Given the description of an element on the screen output the (x, y) to click on. 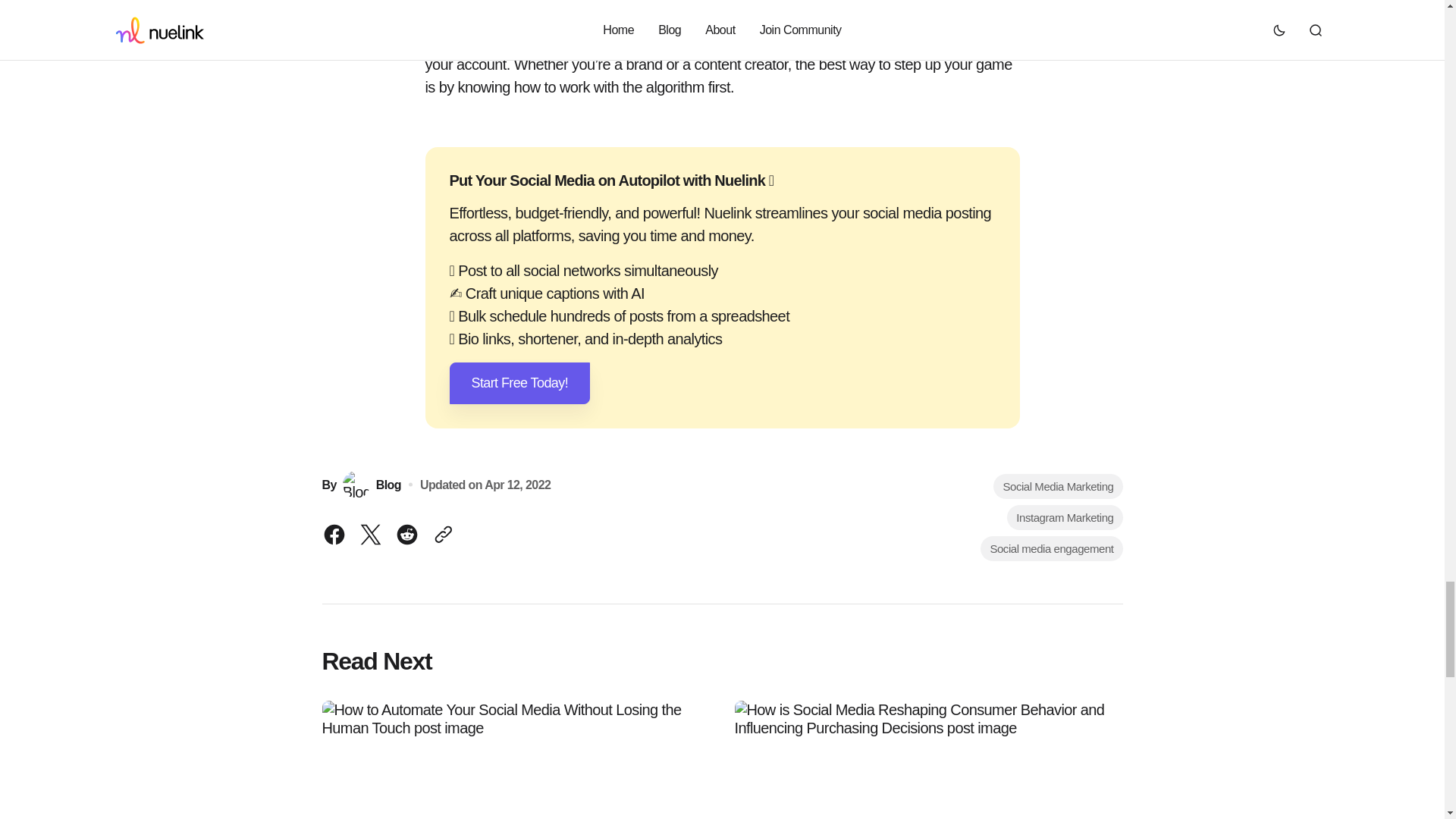
Instagram Marketing (1064, 517)
Blog (371, 483)
Social media engagement (1050, 548)
Social Media Marketing (1057, 486)
Start Free Today! (518, 383)
